Given the description of an element on the screen output the (x, y) to click on. 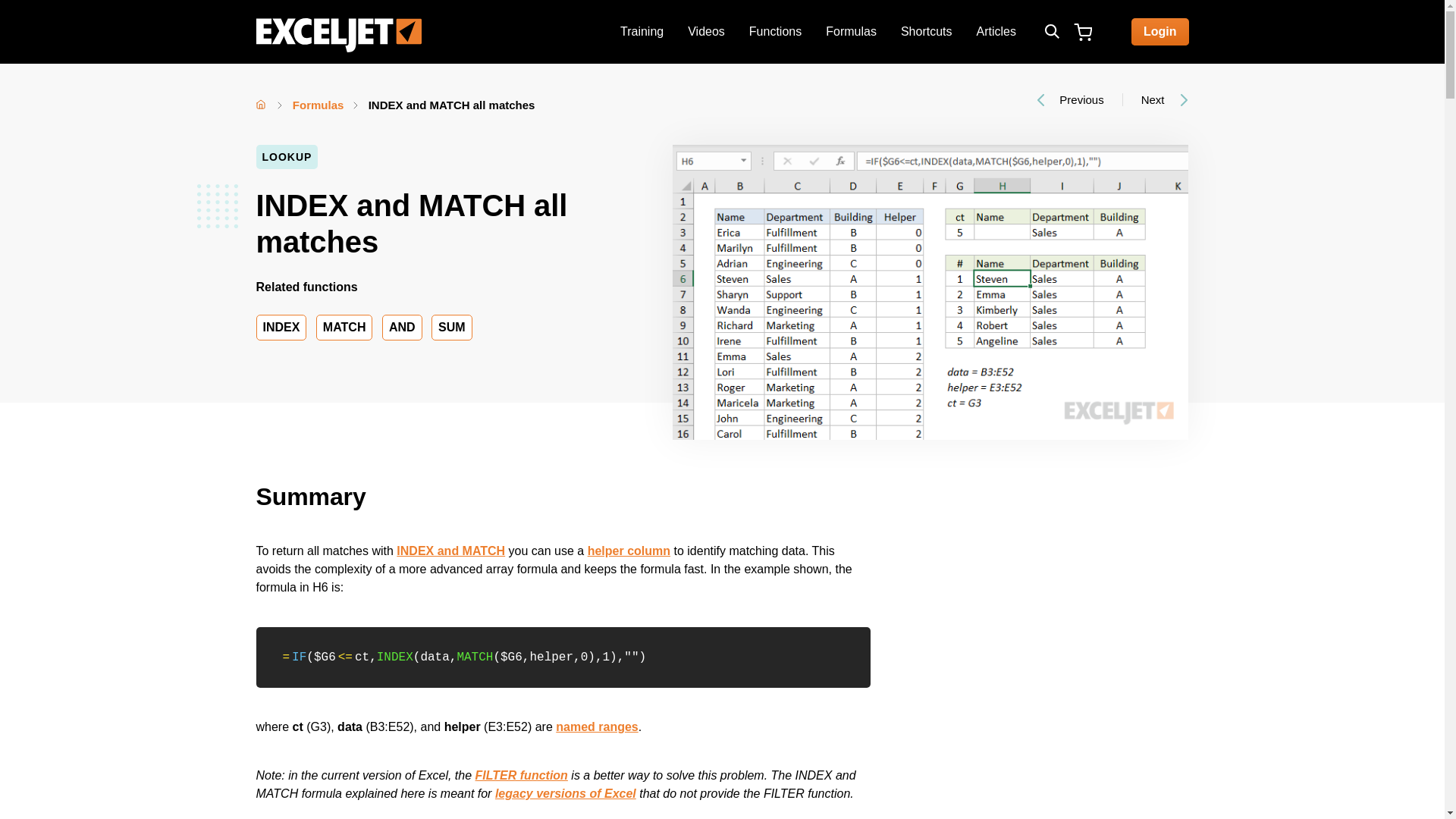
named ranges (596, 726)
Training (641, 31)
MATCH (343, 327)
Shortcuts (925, 31)
Login (1160, 31)
INDEX (281, 327)
Formulas (317, 104)
Videos (705, 31)
Exceljet (339, 37)
